Given the description of an element on the screen output the (x, y) to click on. 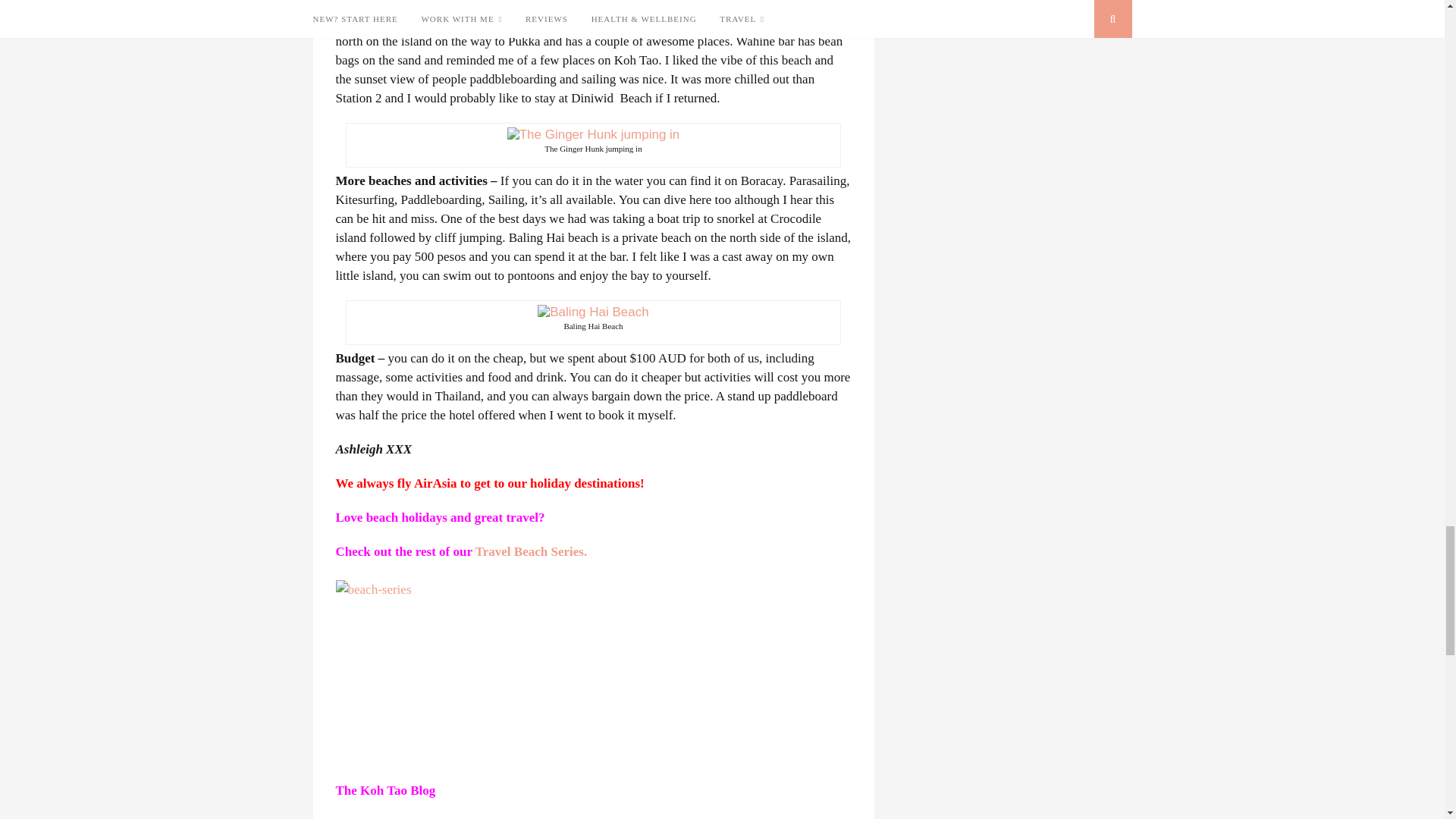
Travel Beach Series. (531, 551)
The Koh Tao Blog  (386, 789)
We always fly AirAsia to get to our holiday destinations!  (490, 482)
AirAsia Business Review (402, 818)
